Given the description of an element on the screen output the (x, y) to click on. 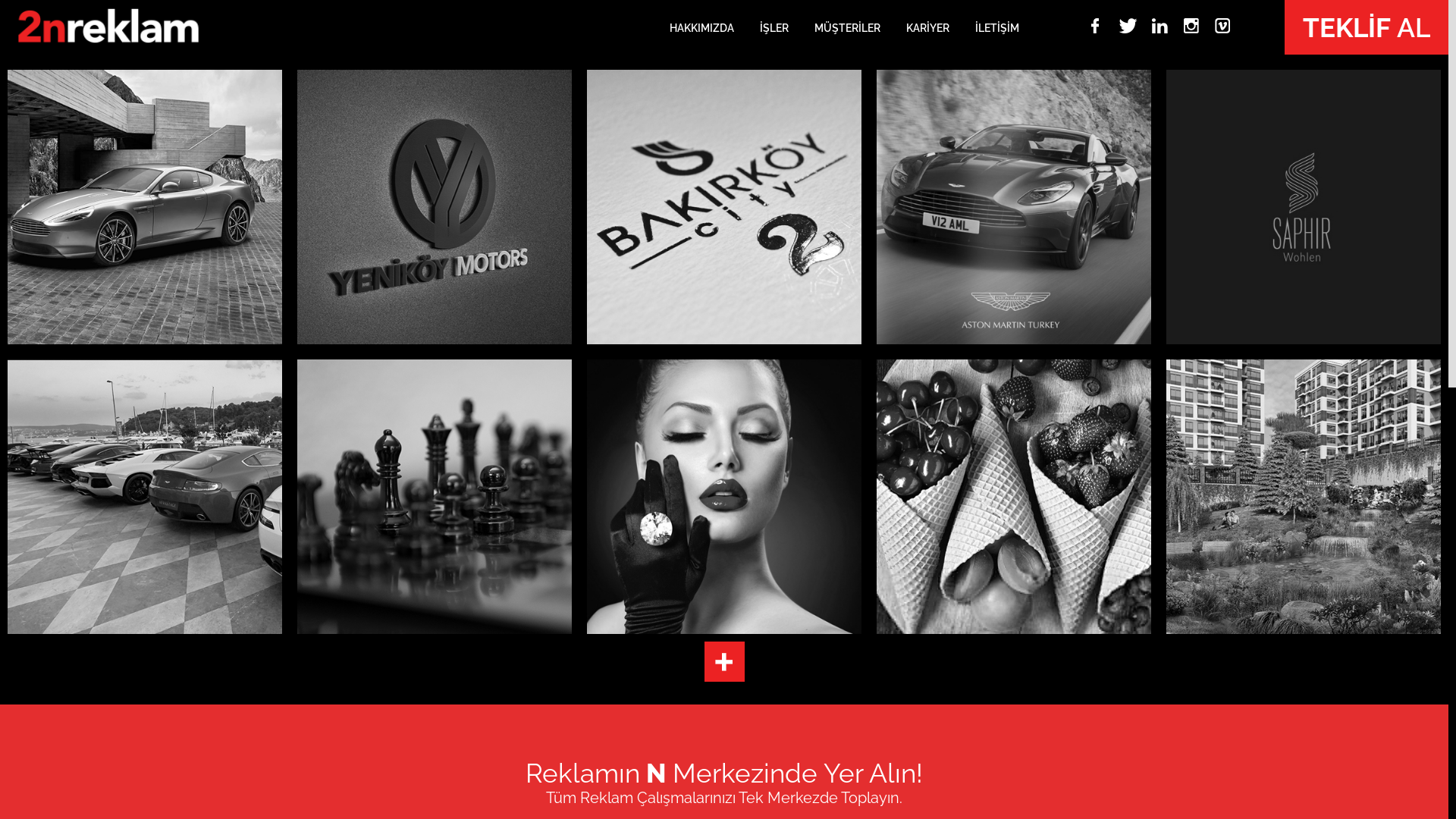
HAKKIMIZDA Element type: text (712, 27)
